Given the description of an element on the screen output the (x, y) to click on. 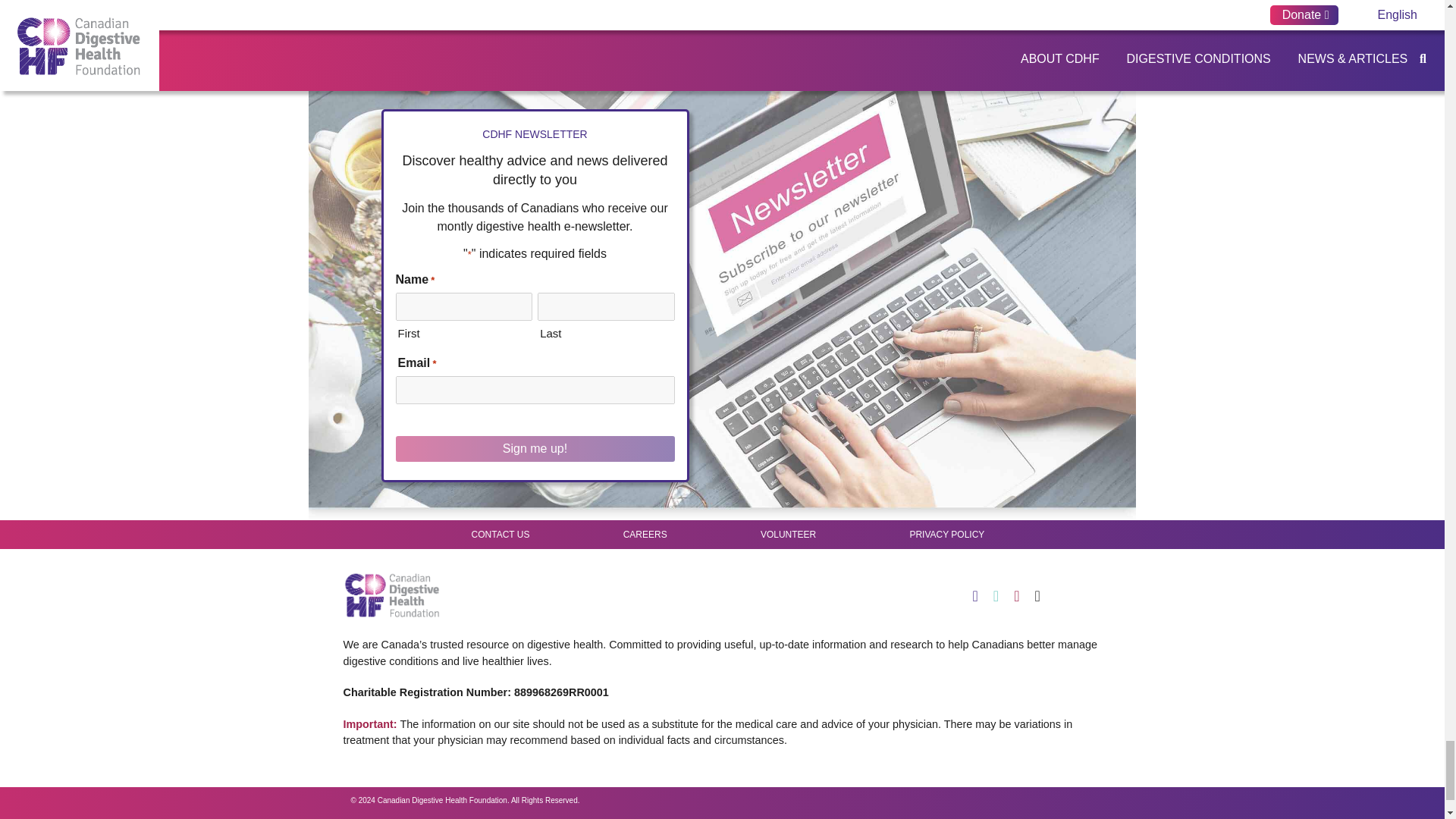
Instagram (1043, 596)
Sign me up! (535, 448)
Facebook (970, 596)
YouTube (1023, 596)
Twitter (1002, 596)
